Given the description of an element on the screen output the (x, y) to click on. 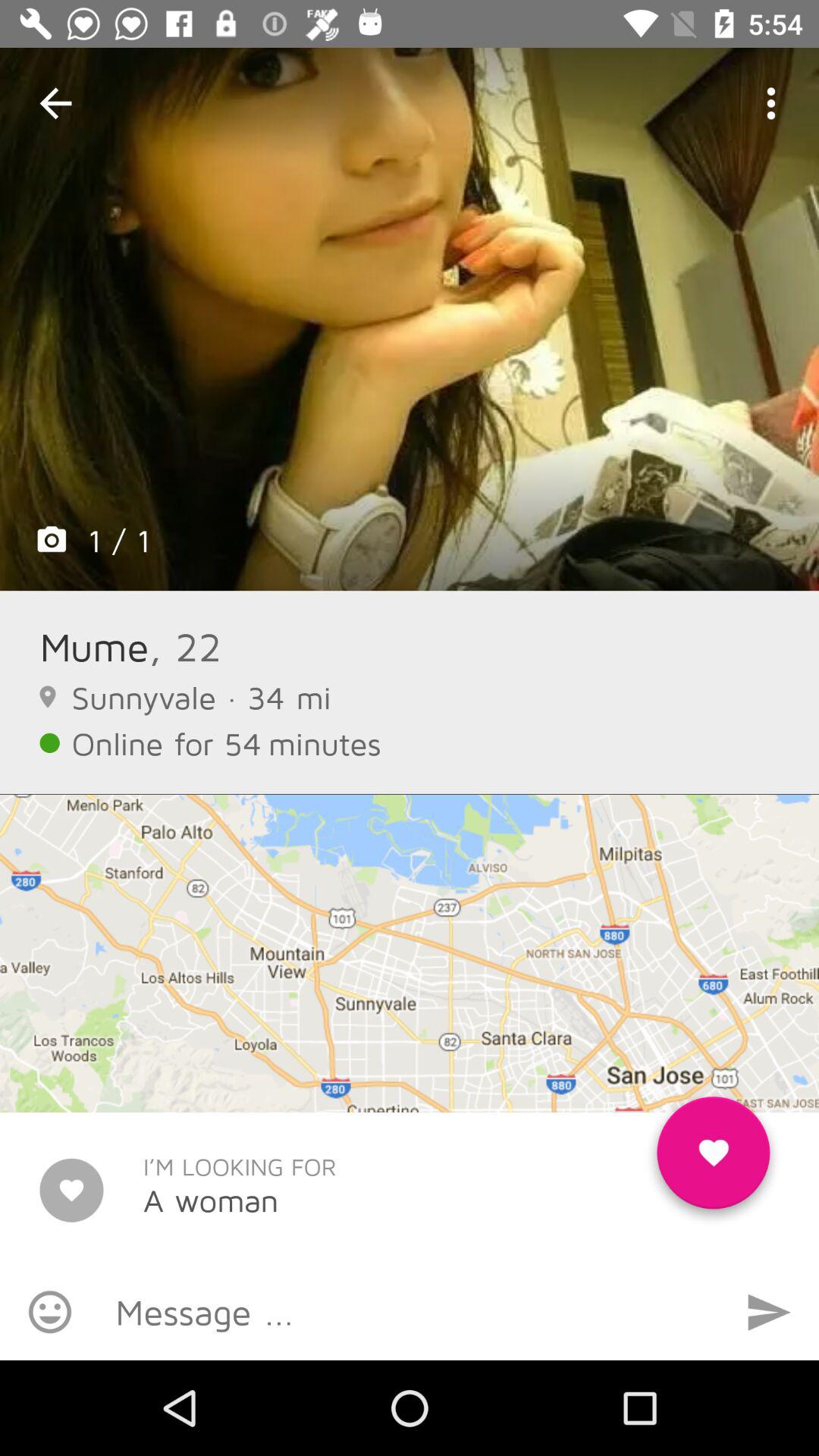
favorite (713, 1158)
